Given the description of an element on the screen output the (x, y) to click on. 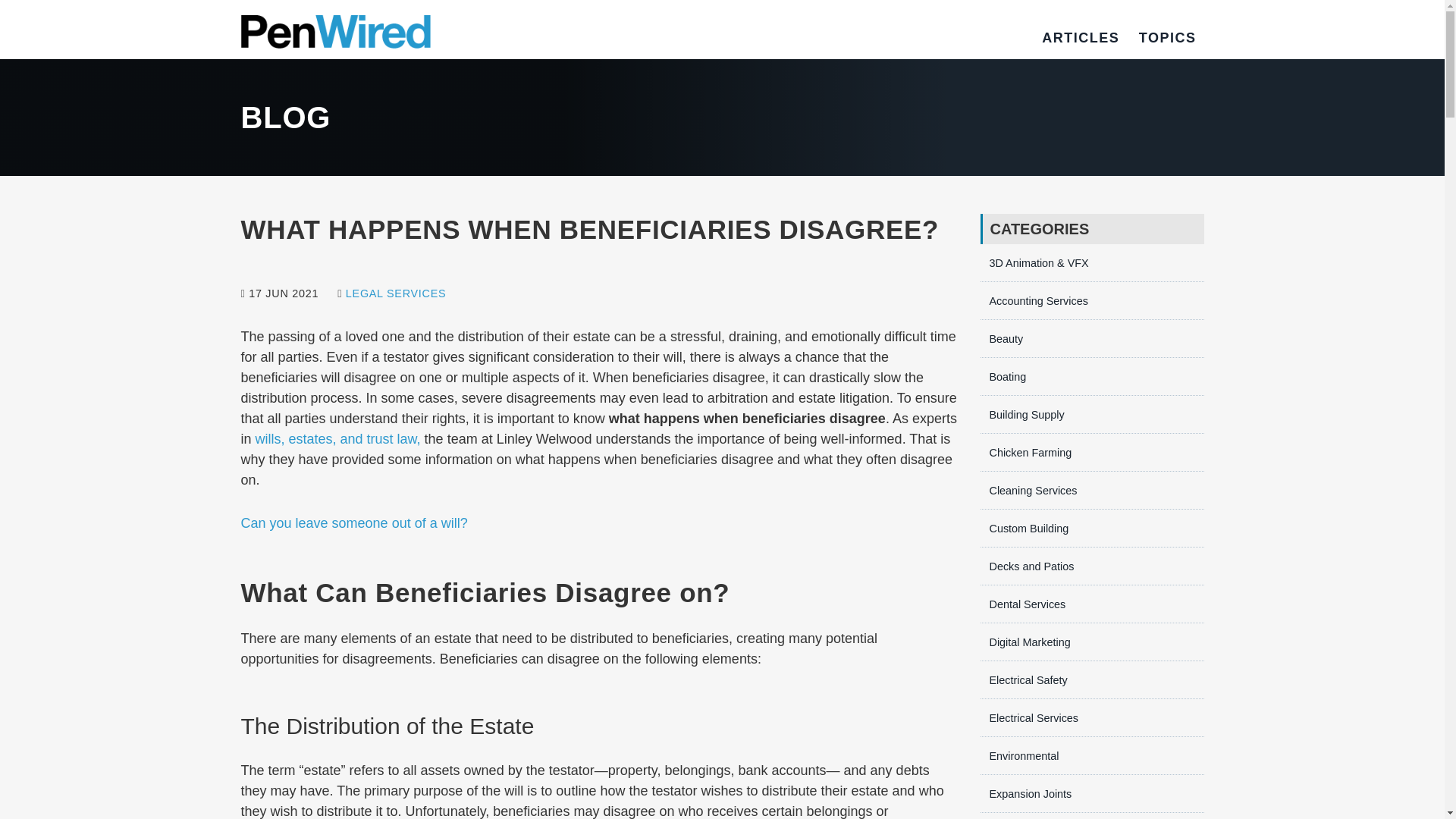
Building Supply (1021, 414)
Cleaning Services (1028, 490)
Chicken Farming (1025, 452)
LEGAL SERVICES (395, 293)
Electrical Services (1028, 717)
TOPICS (1167, 37)
Expansion Joints (1025, 793)
Environmental (1018, 756)
Decks and Patios (1026, 566)
ARTICLES (1080, 37)
Boating (1002, 377)
Beauty (1001, 338)
Custom Building (1023, 528)
Can you leave someone out of a will? (354, 522)
wills, estates, and trust law, (338, 438)
